Given the description of an element on the screen output the (x, y) to click on. 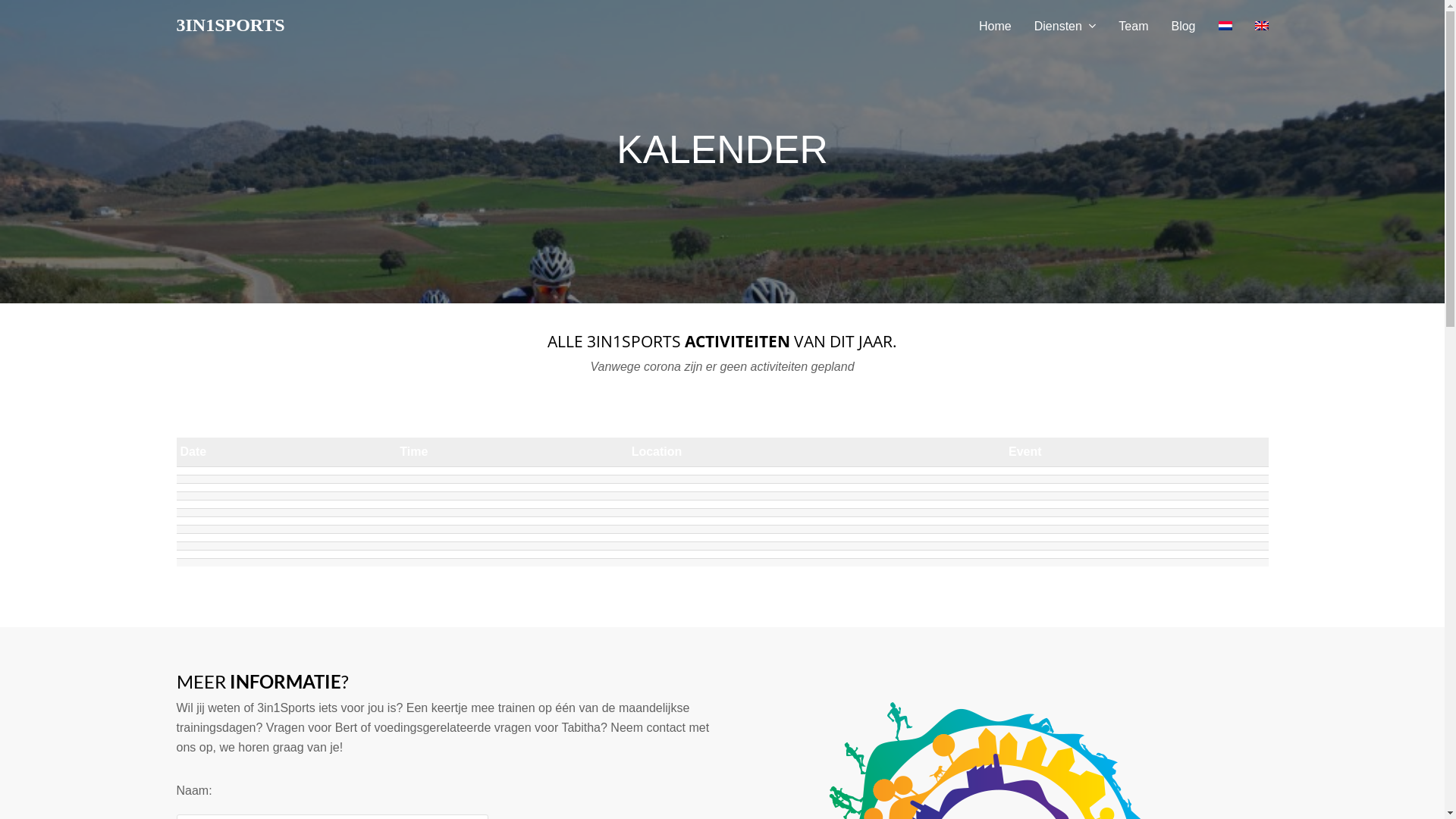
Diensten Element type: text (1064, 26)
3IN1SPORTS Element type: text (229, 24)
Blog Element type: text (1182, 26)
Team Element type: text (1133, 26)
Home Element type: text (994, 26)
